Given the description of an element on the screen output the (x, y) to click on. 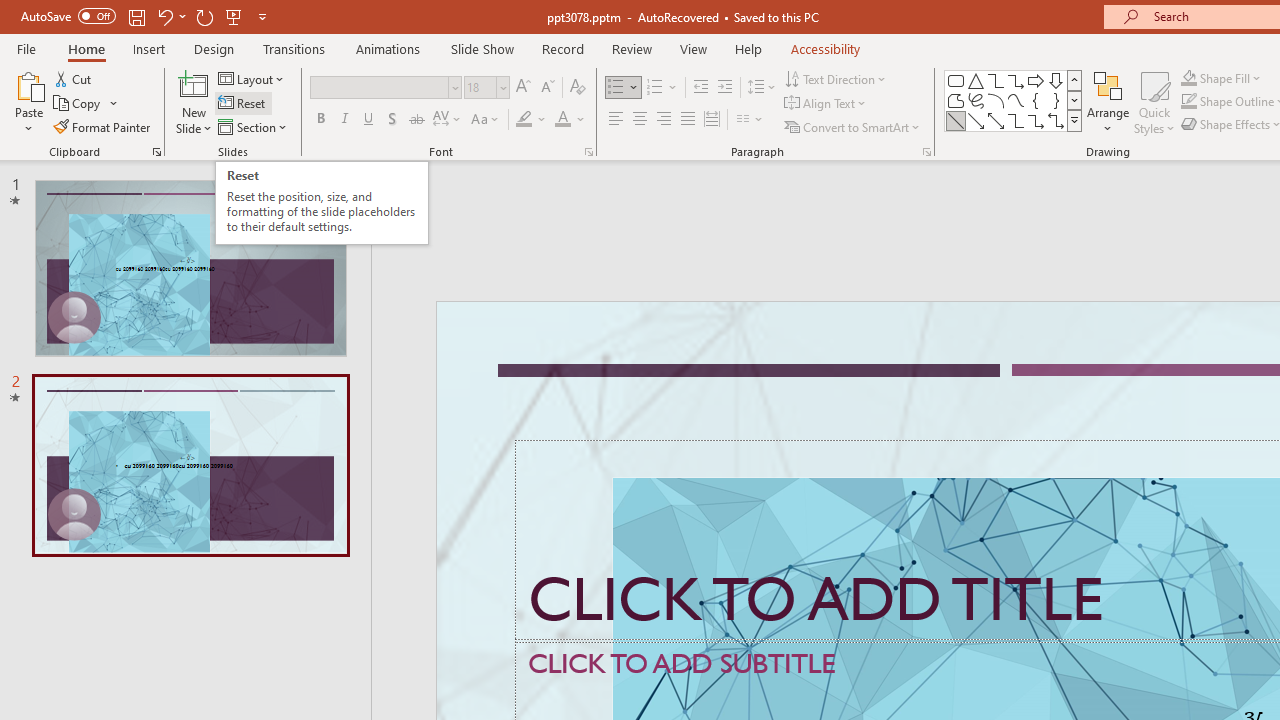
Close Dialog (1133, 681)
Tab actions (1188, 322)
wangyian_dsw - DSW (426, 415)
Edge (905, 82)
Go Back (Alt+LeftArrow) (1055, 265)
